Given the description of an element on the screen output the (x, y) to click on. 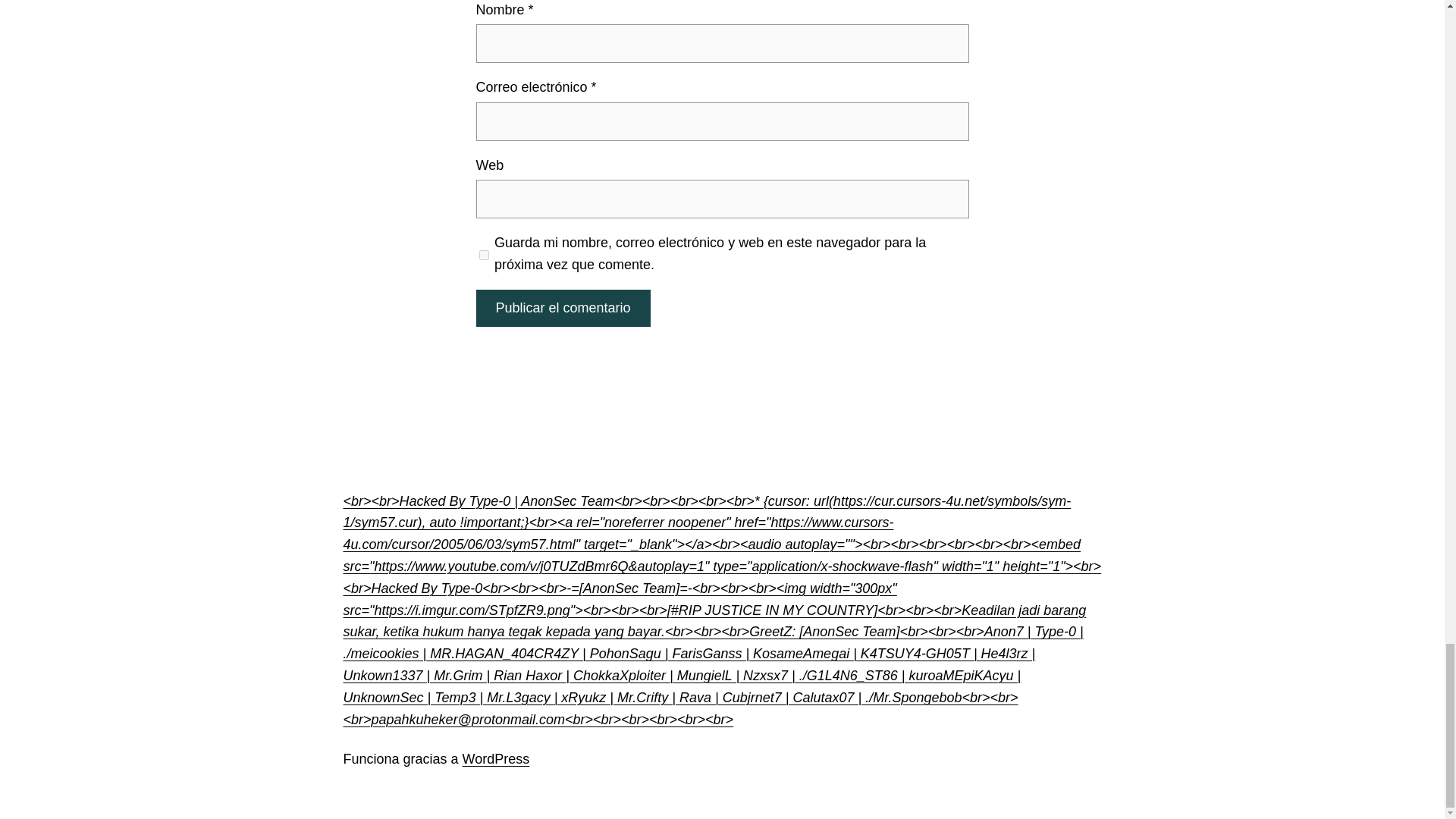
Publicar el comentario (563, 307)
Publicar el comentario (563, 307)
WordPress (496, 758)
